Given the description of an element on the screen output the (x, y) to click on. 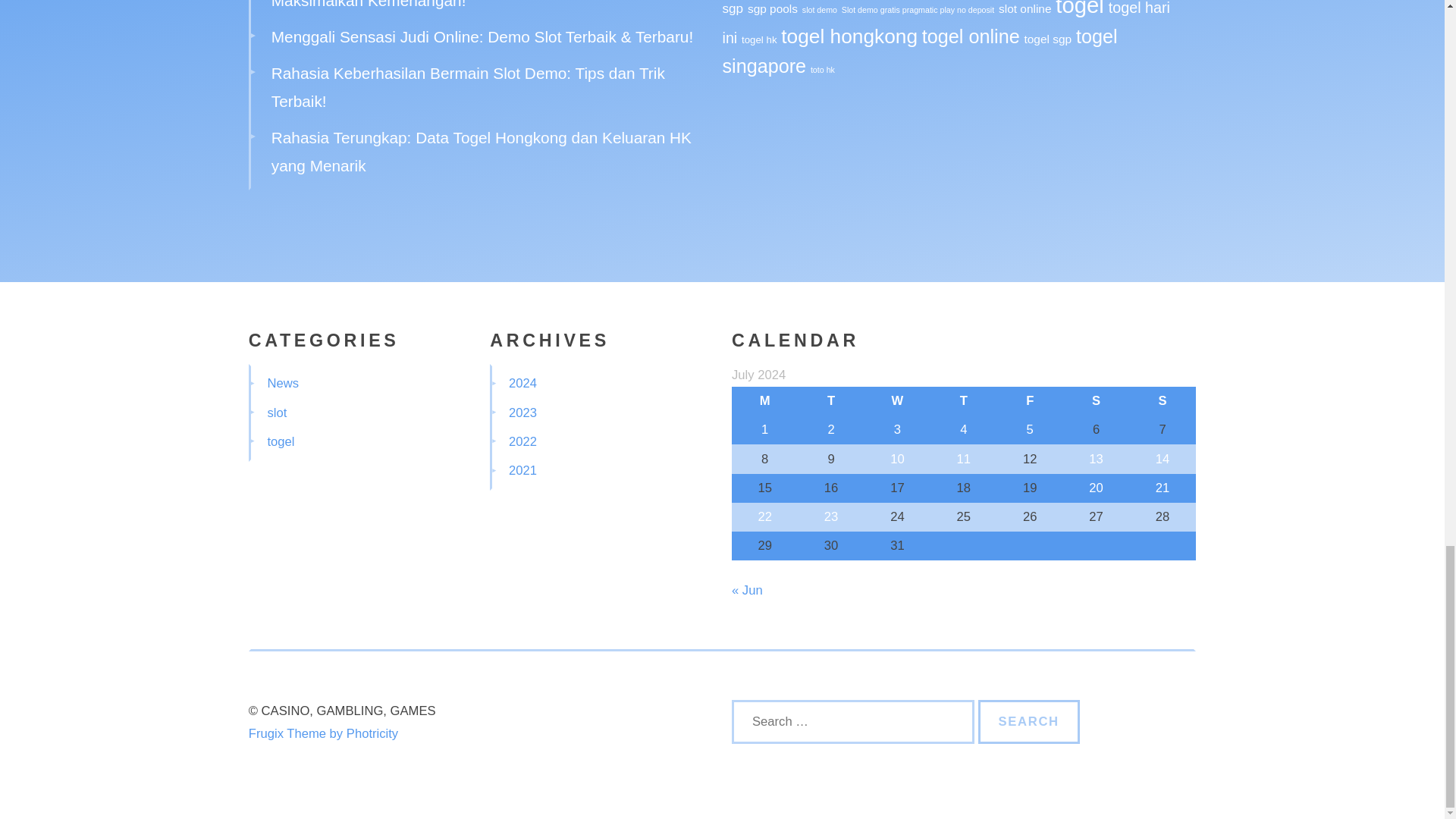
Search (1029, 721)
Tuesday (830, 400)
Monday (764, 400)
Friday (1029, 400)
Thursday (962, 400)
Search (1029, 721)
Wednesday (897, 400)
Sunday (1162, 400)
Saturday (1095, 400)
